Given the description of an element on the screen output the (x, y) to click on. 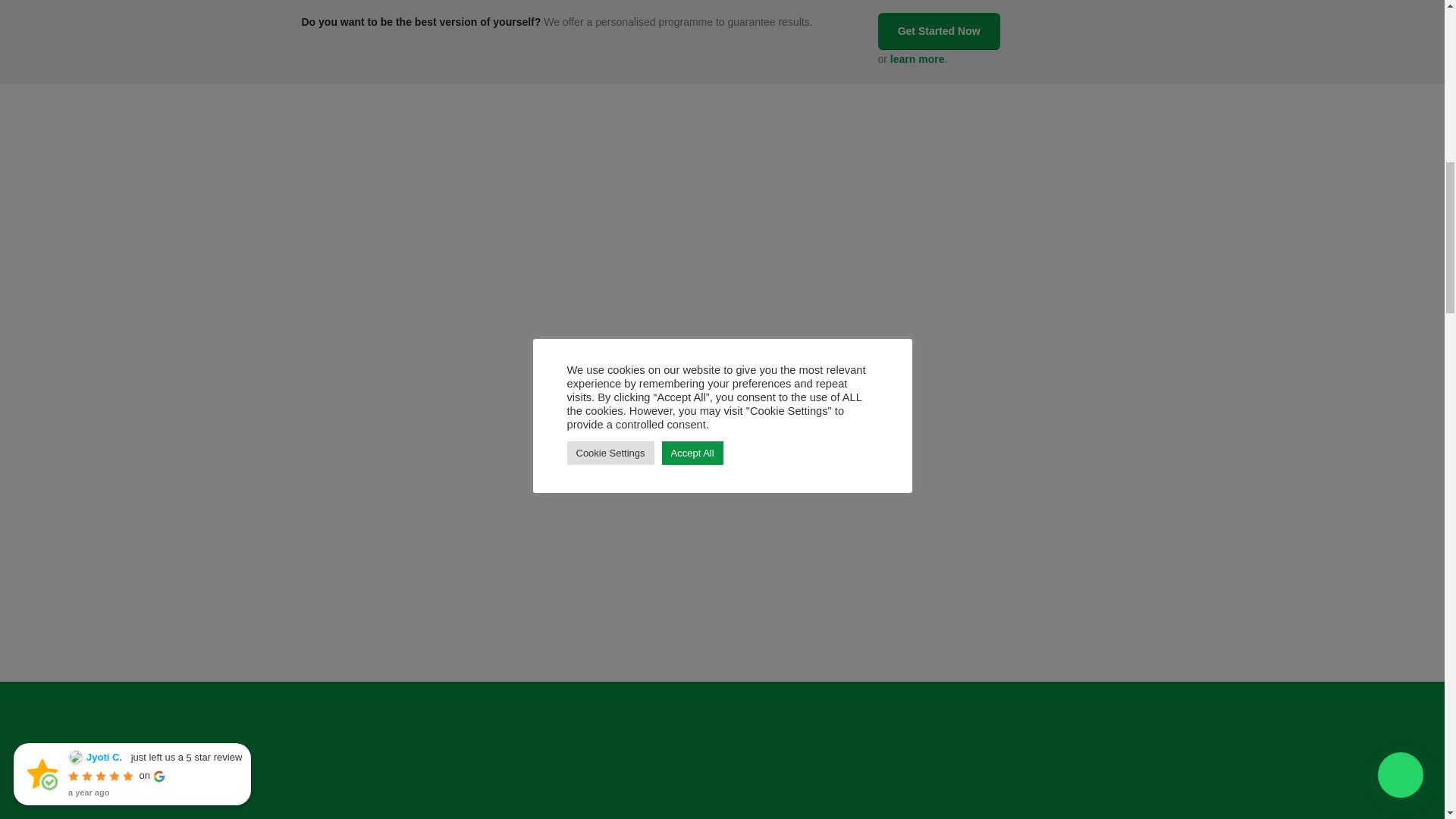
Get Started Now (938, 31)
learn more (916, 59)
